Given the description of an element on the screen output the (x, y) to click on. 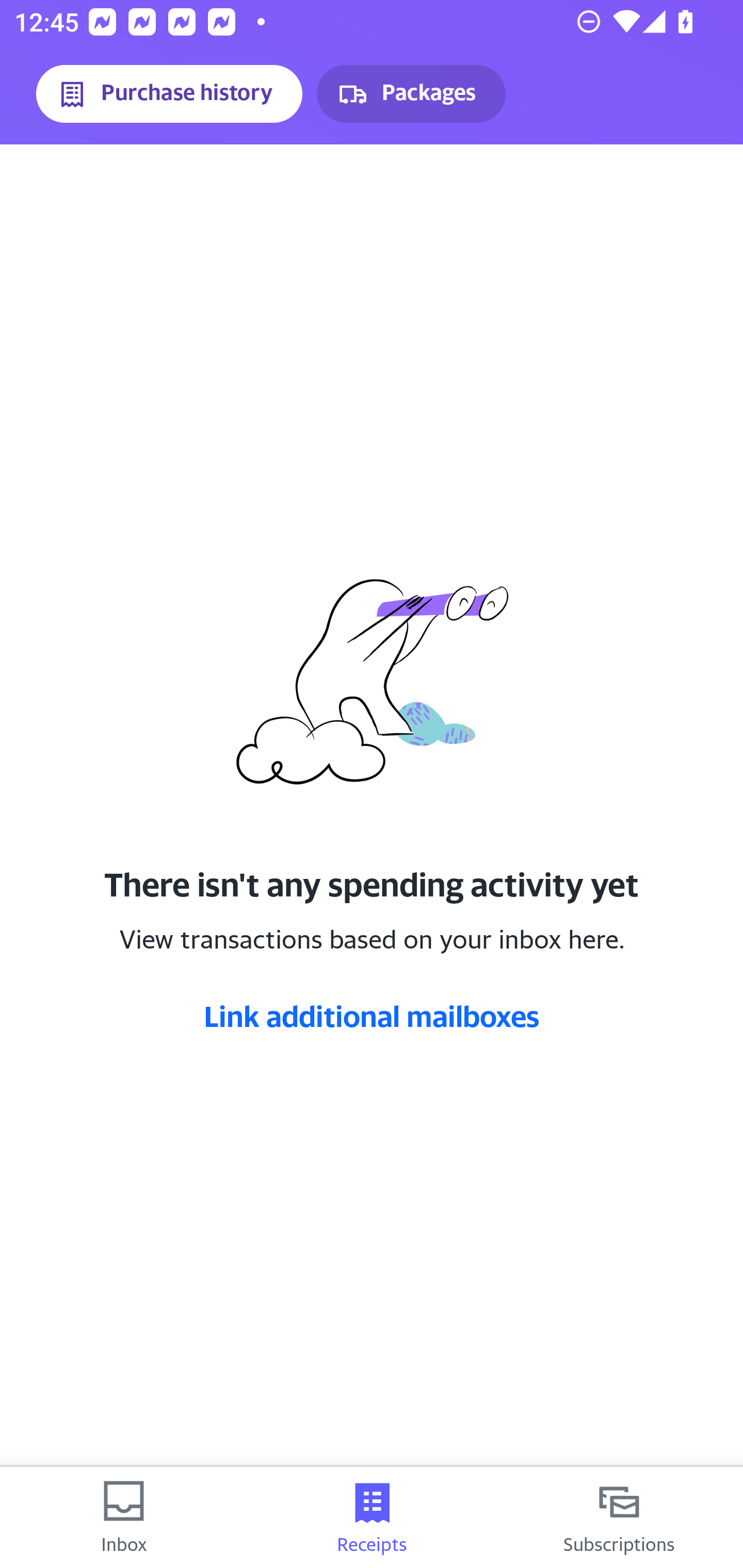
Packages (410, 93)
Link additional mailboxes (371, 1015)
Inbox (123, 1517)
Receipts (371, 1517)
Subscriptions (619, 1517)
